Given the description of an element on the screen output the (x, y) to click on. 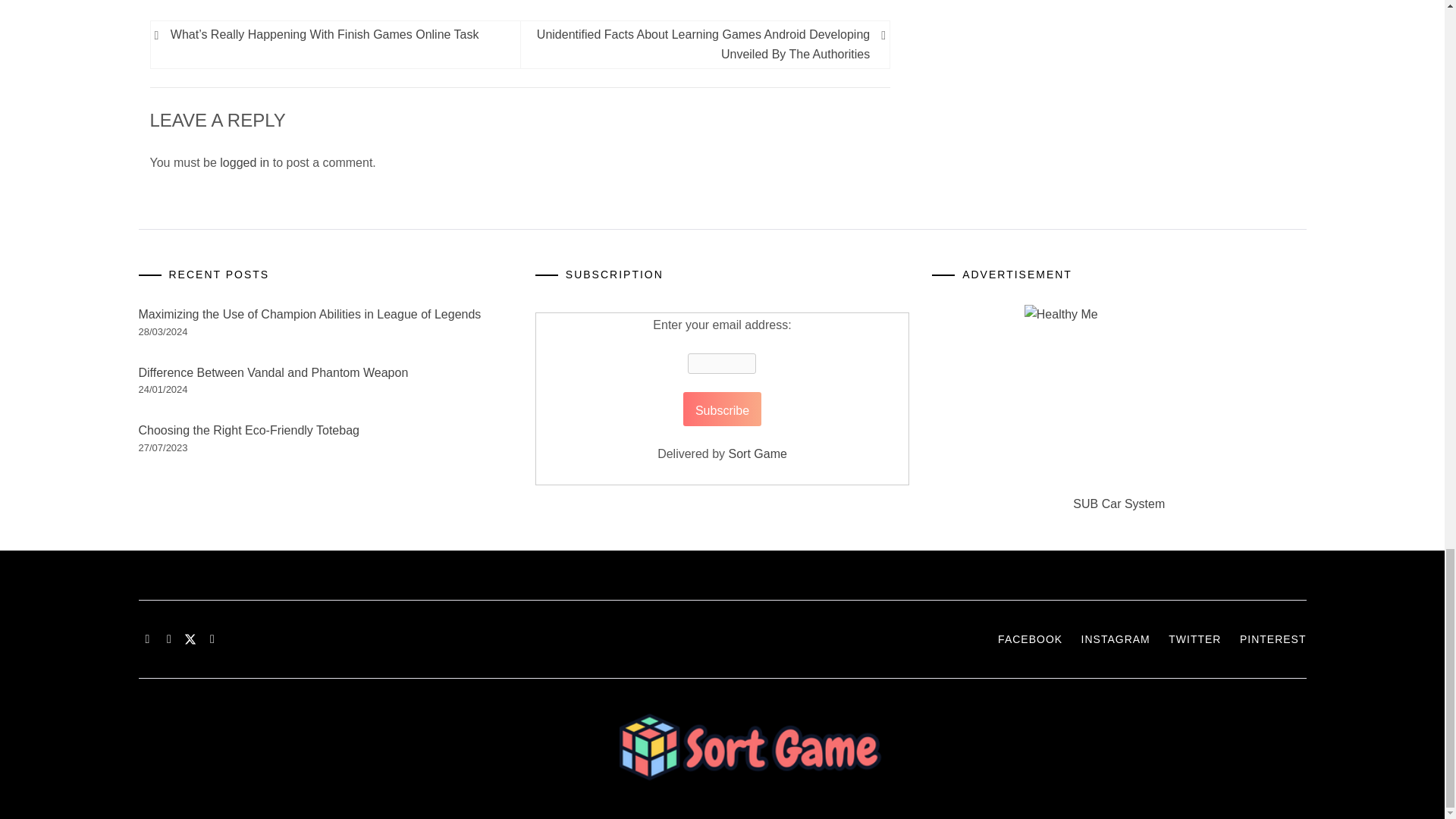
Subscribe (721, 408)
logged in (244, 162)
Healthy Me (1119, 399)
